Given the description of an element on the screen output the (x, y) to click on. 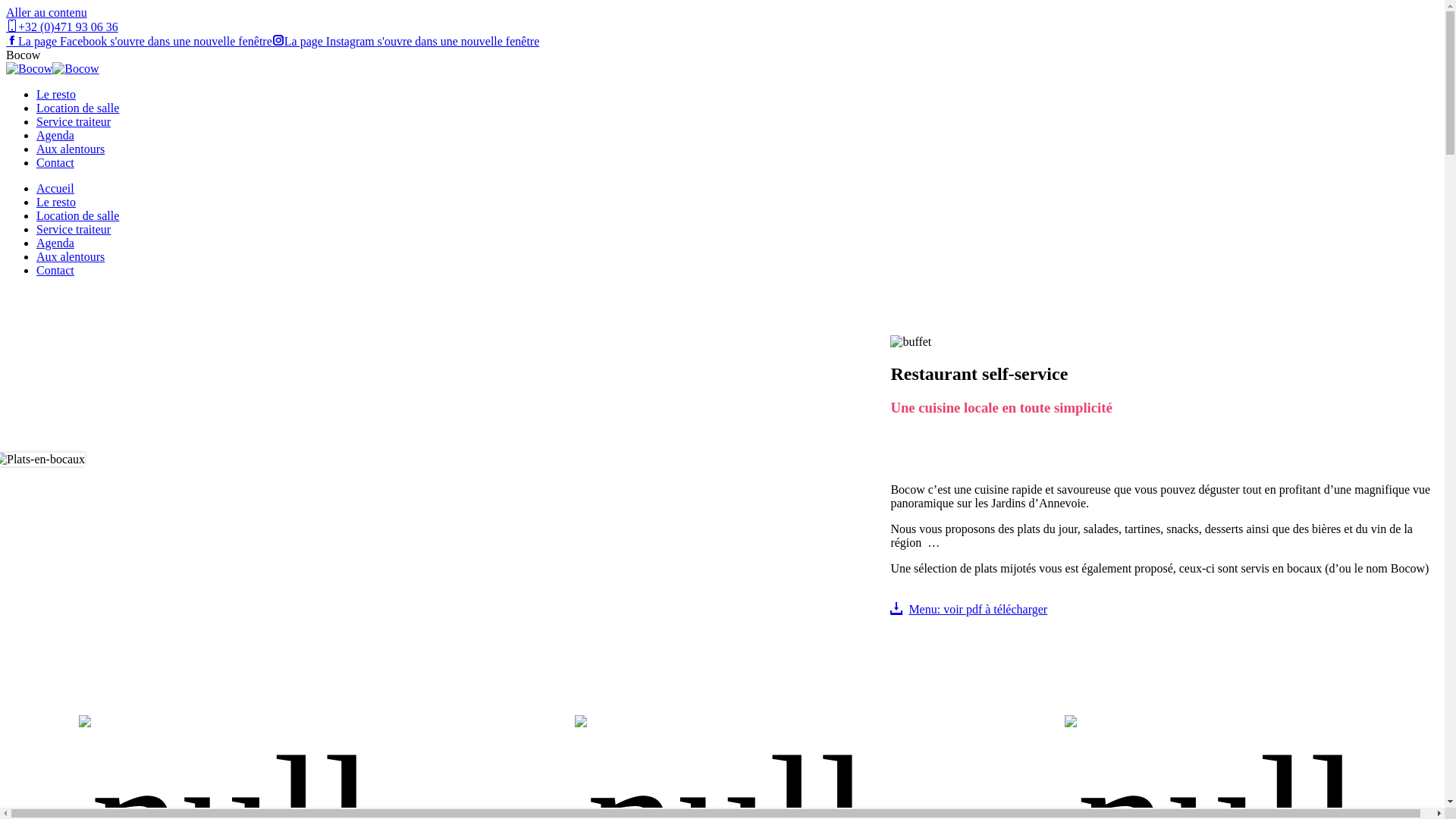
resto Element type: hover (910, 341)
Agenda Element type: text (55, 242)
Aux alentours Element type: text (70, 256)
Agenda Element type: text (55, 134)
Aller au contenu Element type: text (46, 12)
+32 (0)471 93 06 36 Element type: text (62, 26)
Location de salle Element type: text (77, 107)
Le resto Element type: text (55, 201)
Aux alentours Element type: text (70, 148)
Contact Element type: text (55, 162)
Le resto Element type: text (55, 93)
Service traiteur Element type: text (73, 121)
Contact Element type: text (55, 269)
Service traiteur Element type: text (73, 228)
Location de salle Element type: text (77, 215)
Accueil Element type: text (55, 188)
